Given the description of an element on the screen output the (x, y) to click on. 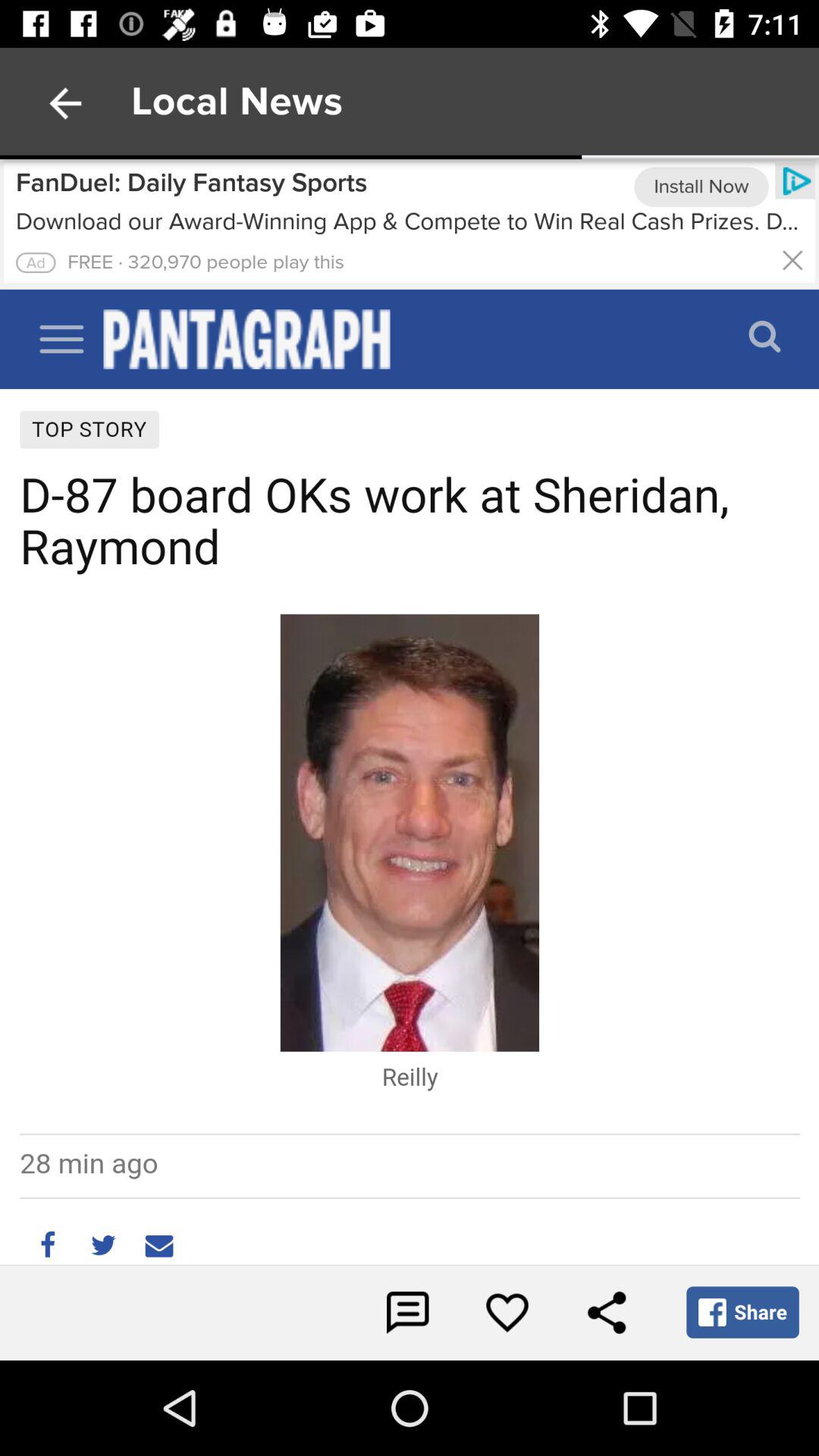
clicks the advertisement (35, 262)
